Given the description of an element on the screen output the (x, y) to click on. 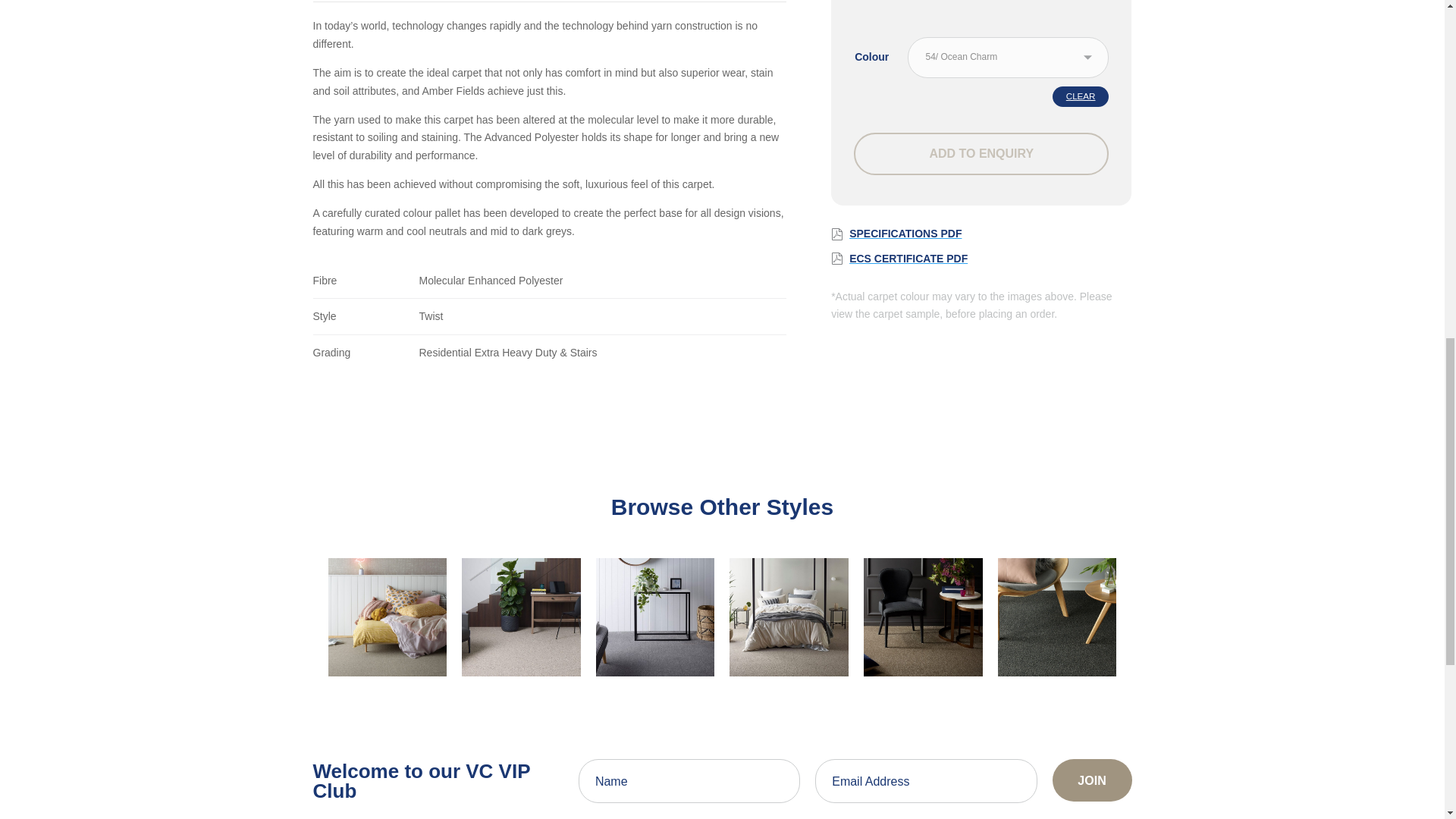
ADD TO ENQUIRY (980, 153)
CLEAR (1080, 96)
SPECIFICATIONS PDF (981, 233)
ECS CERTIFICATE PDF (981, 258)
